Given the description of an element on the screen output the (x, y) to click on. 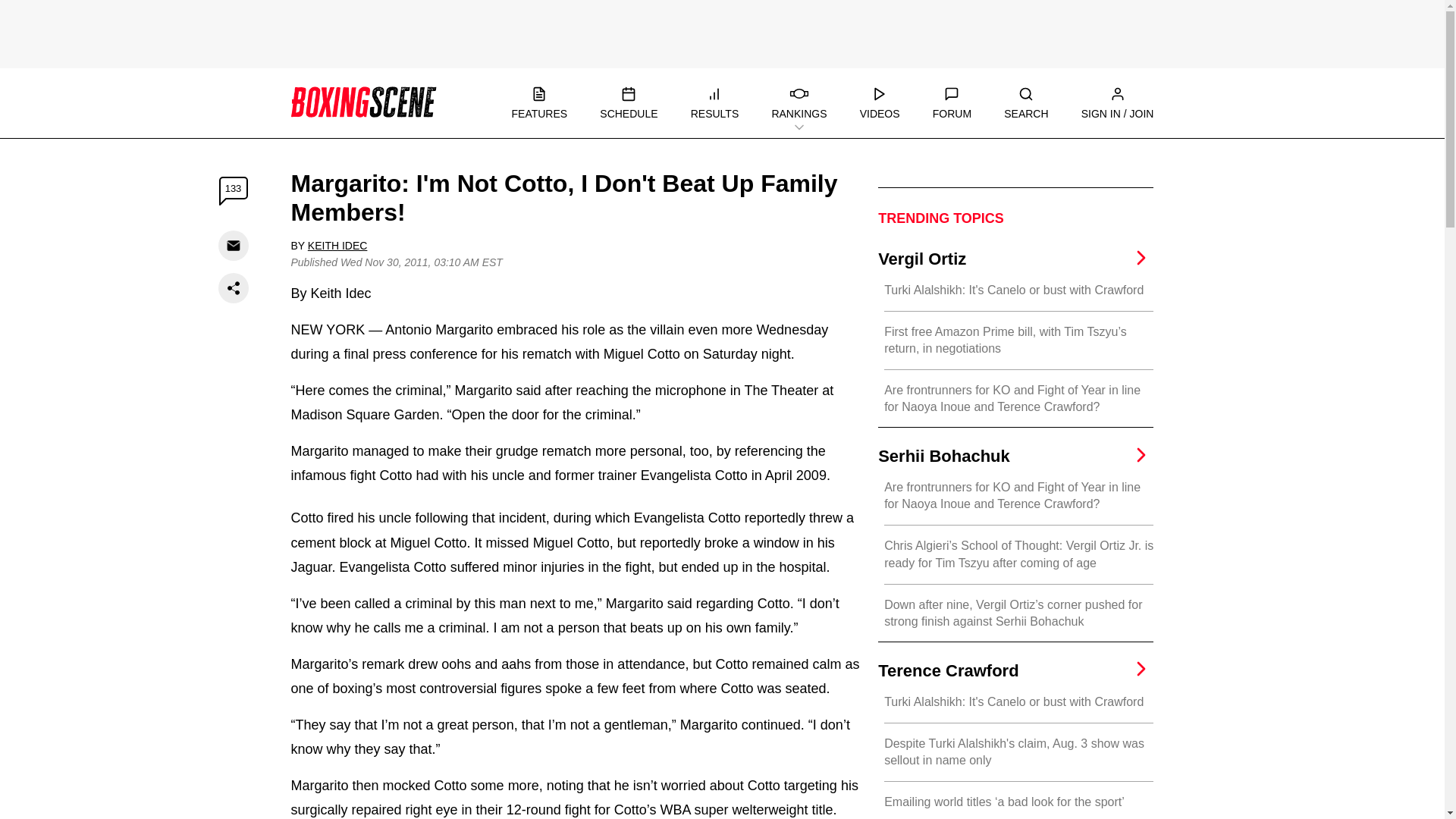
FORUM (952, 102)
RESULTS (714, 102)
SCHEDULE (628, 102)
133 (233, 191)
VIDEOS (879, 102)
FEATURES (539, 102)
RANKINGS (799, 102)
SEARCH (1026, 102)
KEITH IDEC (337, 245)
